Given the description of an element on the screen output the (x, y) to click on. 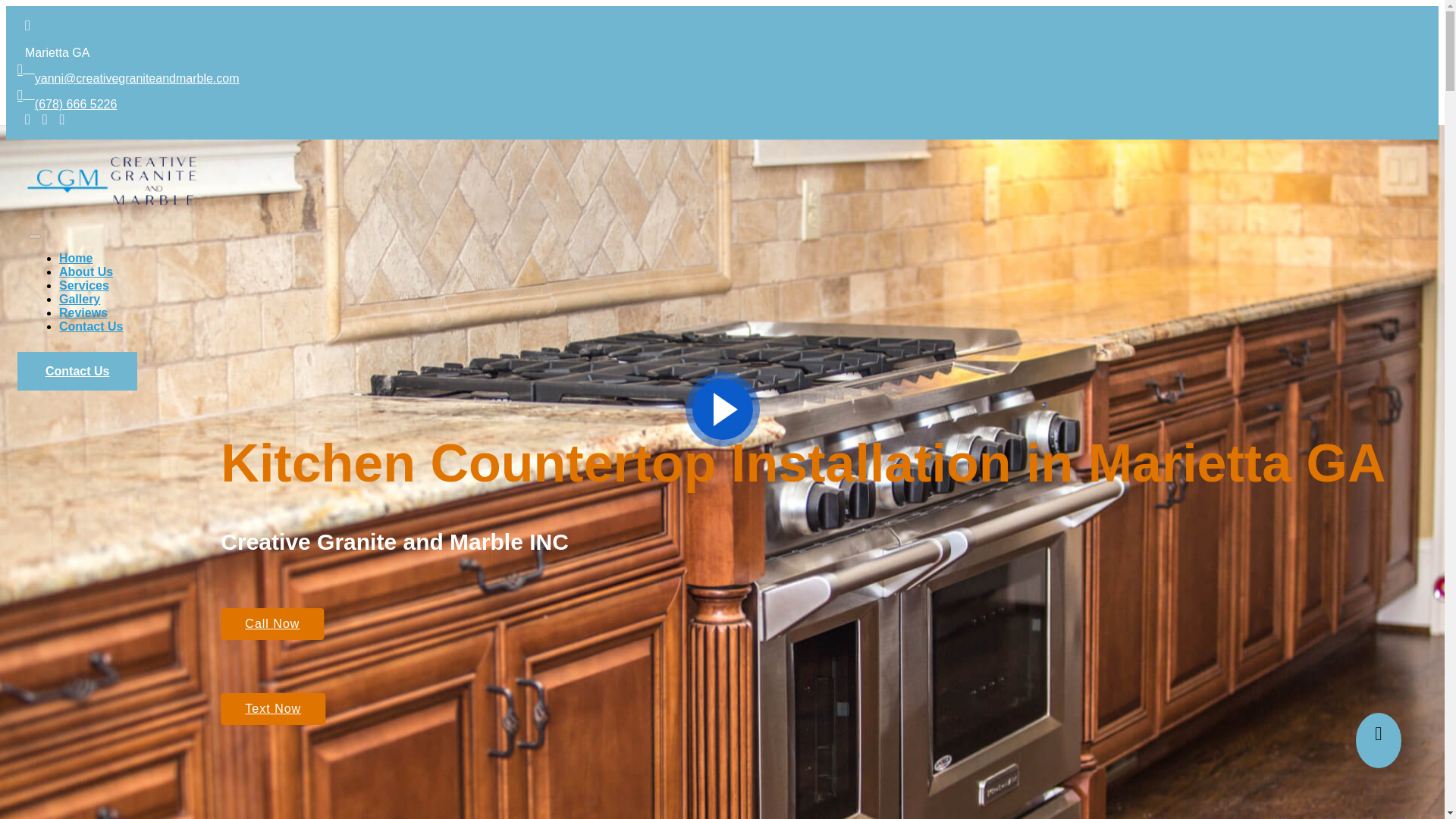
Contact Us (90, 326)
Contact Us (76, 371)
About Us (86, 271)
Gallery (79, 298)
About Us (86, 271)
Text Now (272, 708)
Call Now (272, 623)
Gallery (79, 298)
Services (84, 285)
Call Now (272, 623)
Text Now (272, 708)
Services (84, 285)
Reviews (83, 312)
Contact Us (90, 326)
Reviews (83, 312)
